Given the description of an element on the screen output the (x, y) to click on. 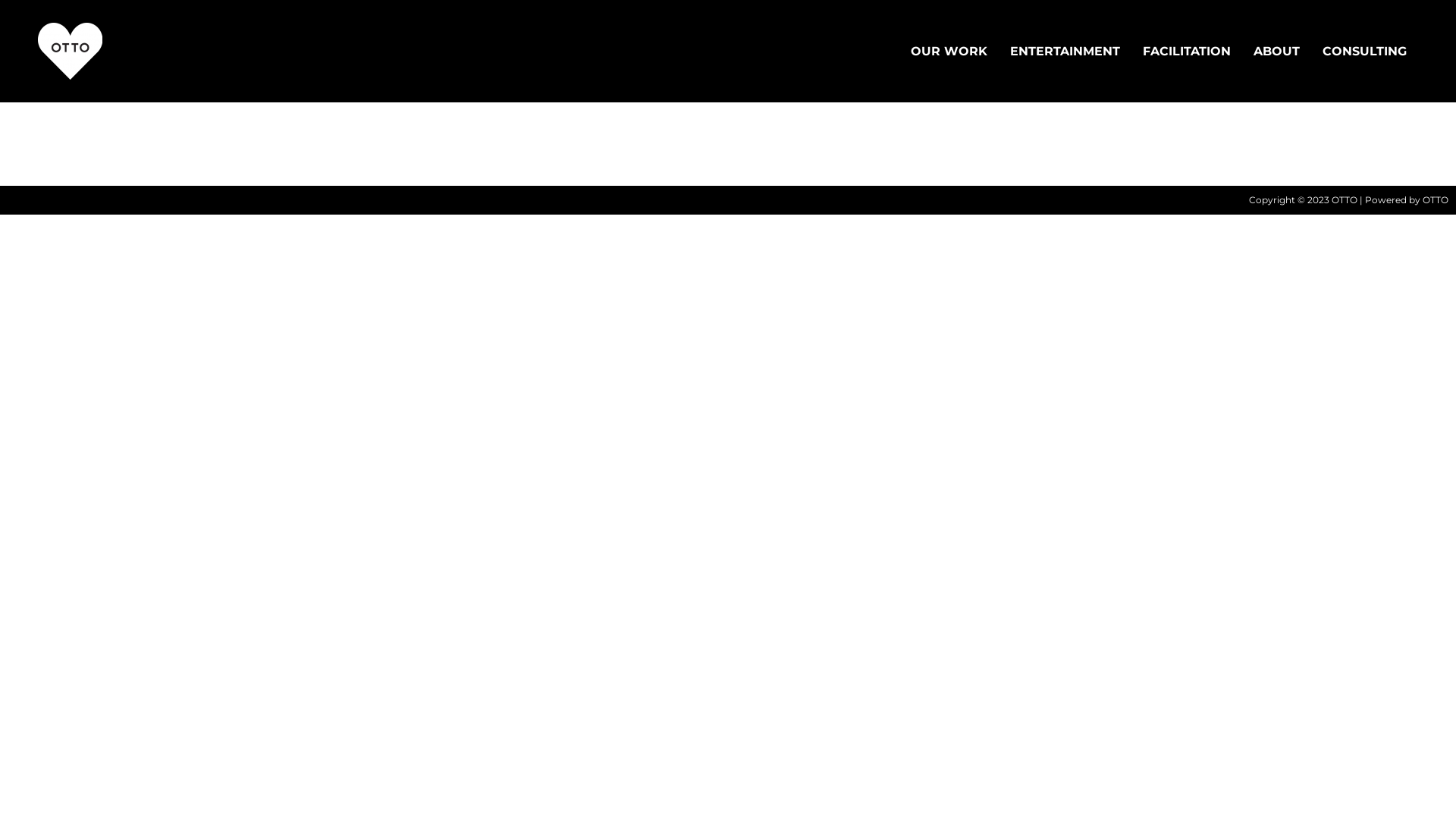
otto HEART logo white small Element type: hover (69, 50)
ABOUT Element type: text (1276, 50)
CONSULTING Element type: text (1364, 50)
FACILITATION Element type: text (1186, 50)
OUR WORK Element type: text (948, 50)
ENTERTAINMENT Element type: text (1064, 50)
